Given the description of an element on the screen output the (x, y) to click on. 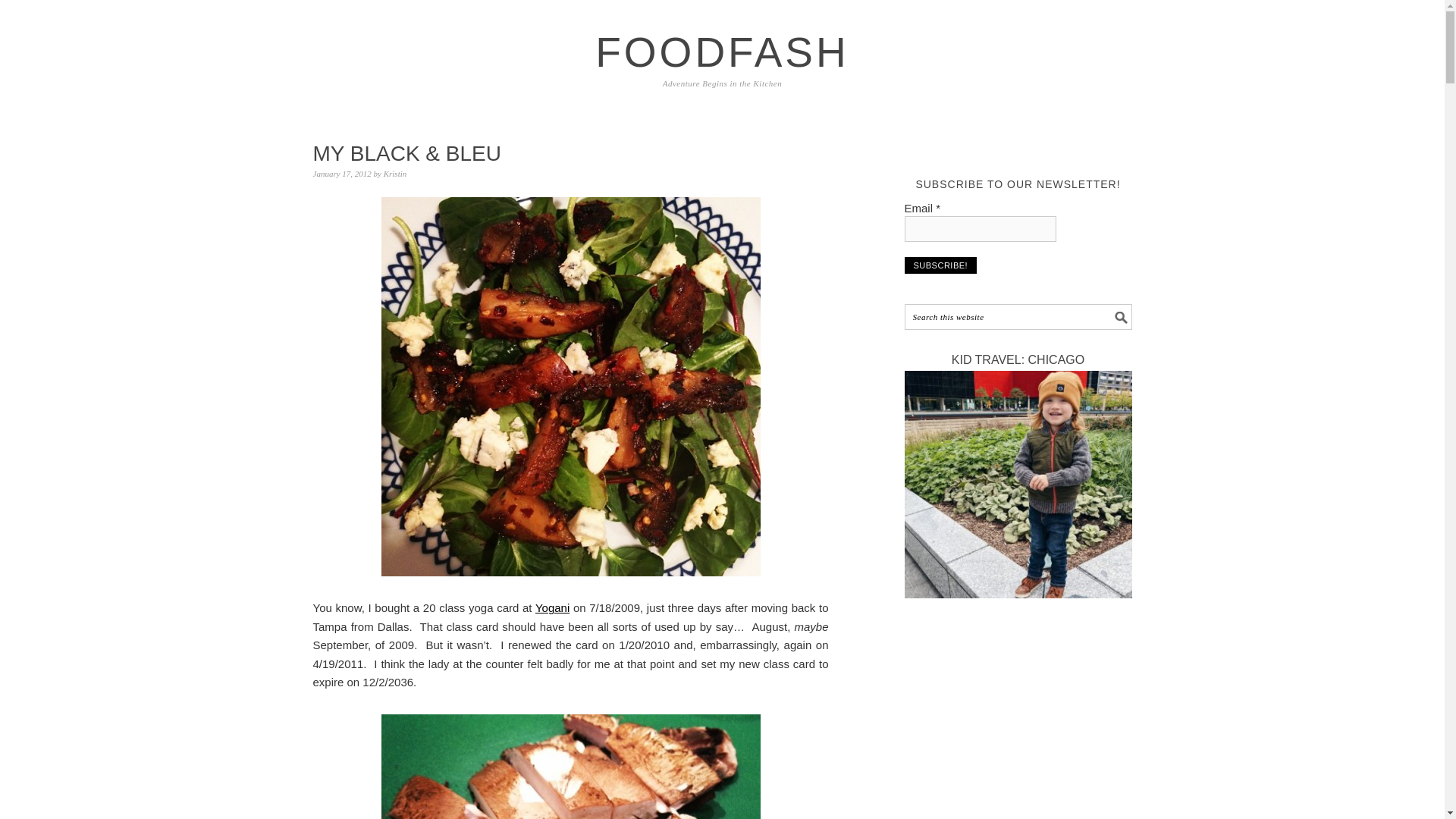
Kristin (395, 173)
Yogani (552, 607)
Subscribe! (940, 265)
FOODFASH (721, 52)
